Given the description of an element on the screen output the (x, y) to click on. 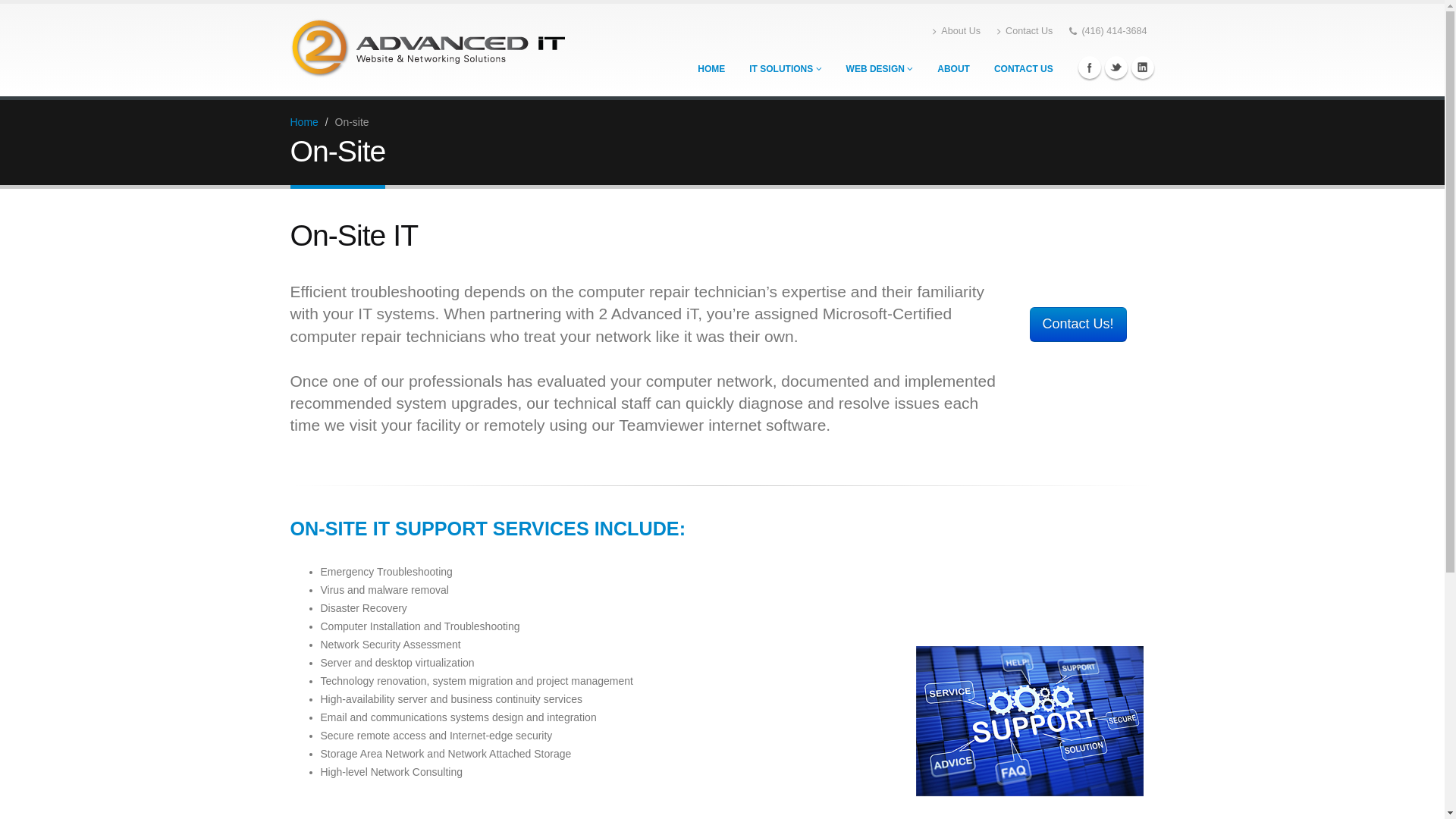
Linkedin Element type: text (1142, 67)
INCLUDE Element type: text (636, 528)
WEB DESIGN Element type: text (879, 68)
ABOUT Element type: text (953, 68)
Home Element type: text (303, 122)
Twitter Element type: text (1115, 67)
About Us Element type: text (956, 30)
CONTACT US Element type: text (1023, 68)
Contact Us Element type: text (1024, 30)
IT SOLUTIONS Element type: text (784, 68)
Facebook Element type: text (1089, 67)
HOME Element type: text (711, 68)
Contact Us! Element type: text (1077, 324)
